Given the description of an element on the screen output the (x, y) to click on. 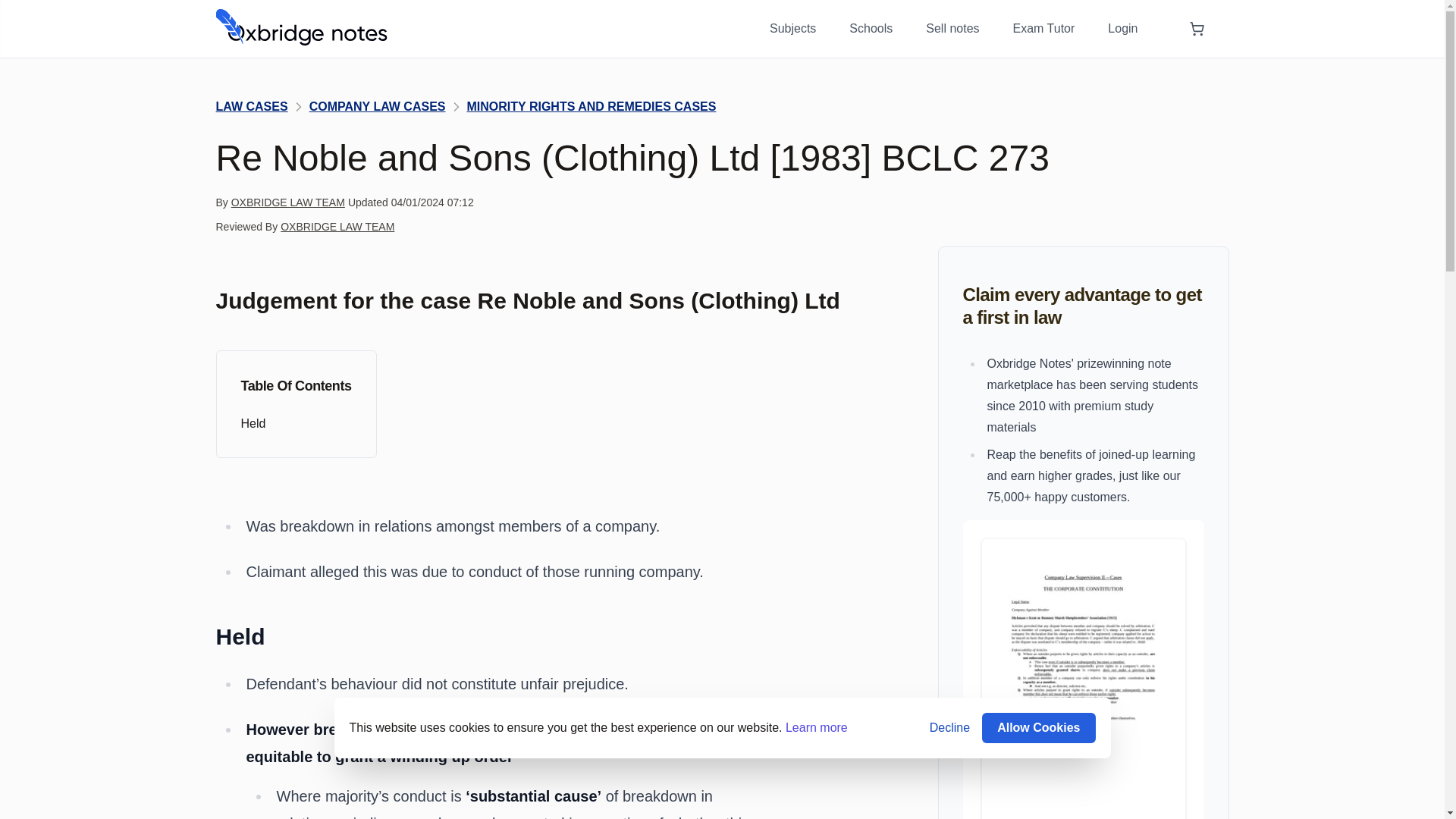
Schools (870, 28)
Exam Tutor (1044, 28)
Decline (949, 728)
Learn more (816, 727)
LAW CASES (250, 106)
Subjects (792, 28)
Held (296, 423)
COMPANY LAW CASES (376, 106)
OXBRIDGE LAW TEAM (337, 226)
Login (1122, 28)
